Given the description of an element on the screen output the (x, y) to click on. 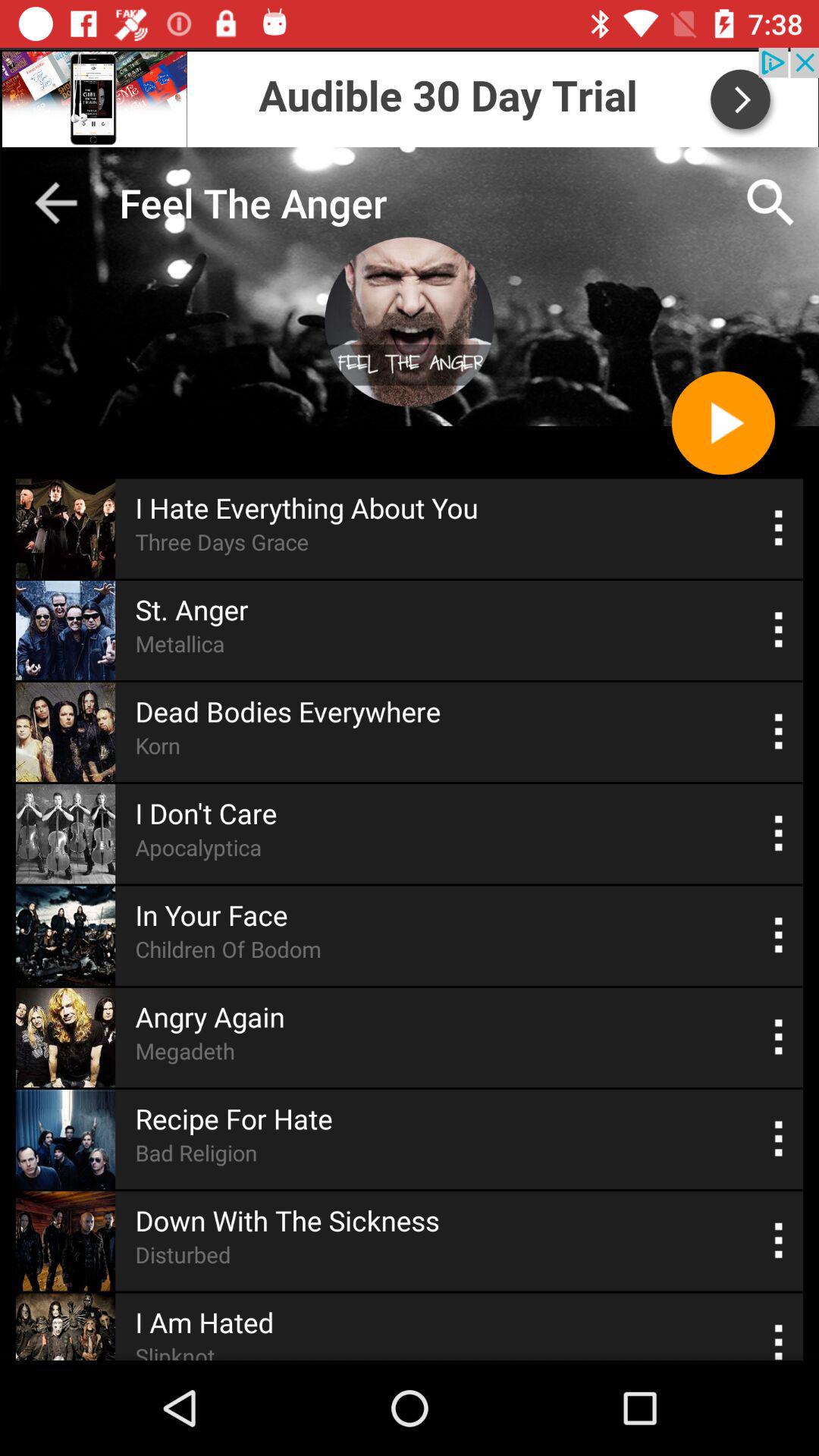
switch auto play option (779, 935)
